Given the description of an element on the screen output the (x, y) to click on. 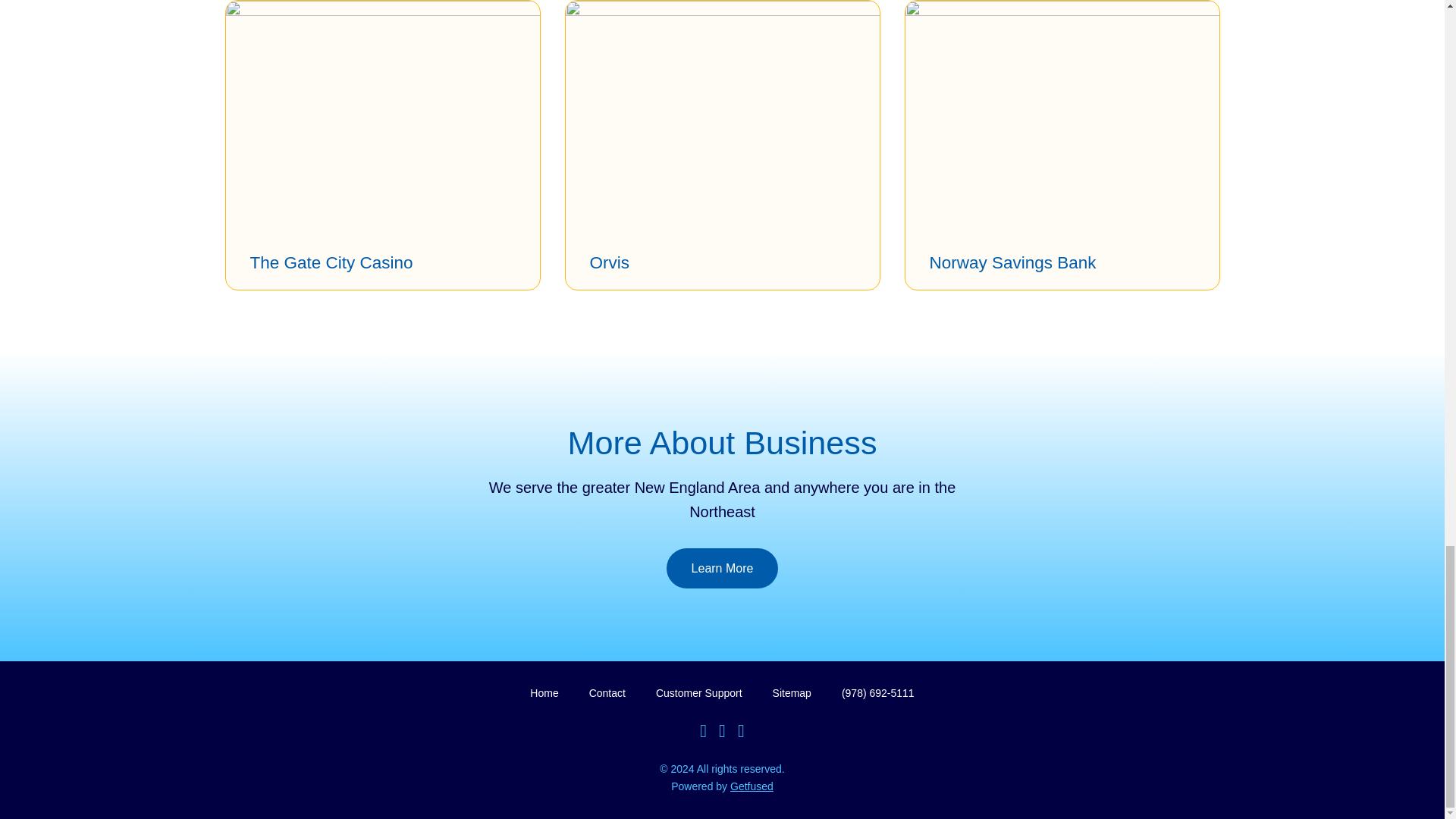
Orvis (609, 262)
Contact (607, 693)
The Gate City Casino (331, 262)
Sitemap (791, 693)
Learn More (722, 567)
Norway Savings Bank (1013, 262)
Customer Support (699, 693)
Home (543, 693)
